Given the description of an element on the screen output the (x, y) to click on. 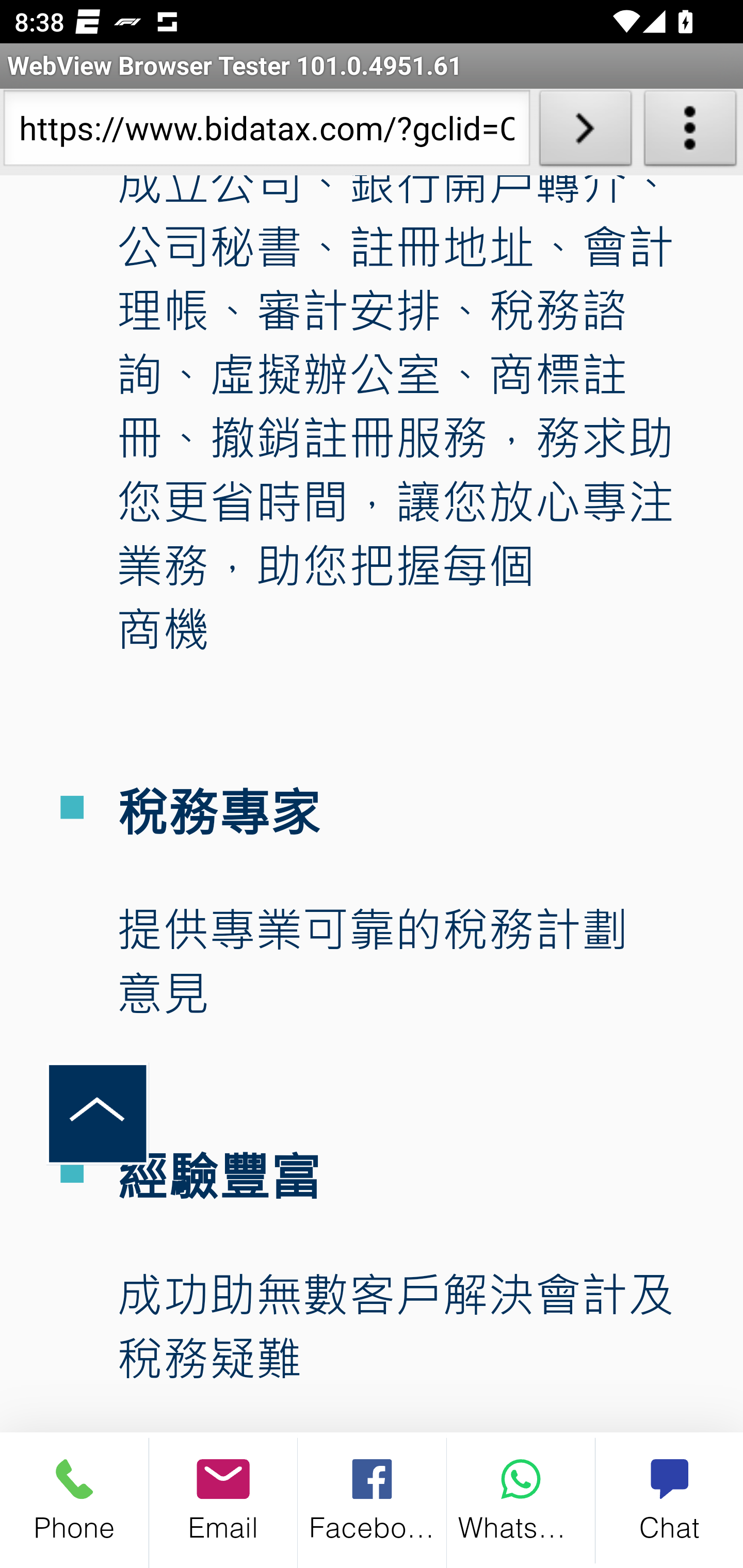
Load URL (585, 132)
About WebView (690, 132)
Phone (74, 1499)
Email (222, 1499)
Facebook (372, 1499)
WhatsApp (520, 1499)
Chat (669, 1499)
